Given the description of an element on the screen output the (x, y) to click on. 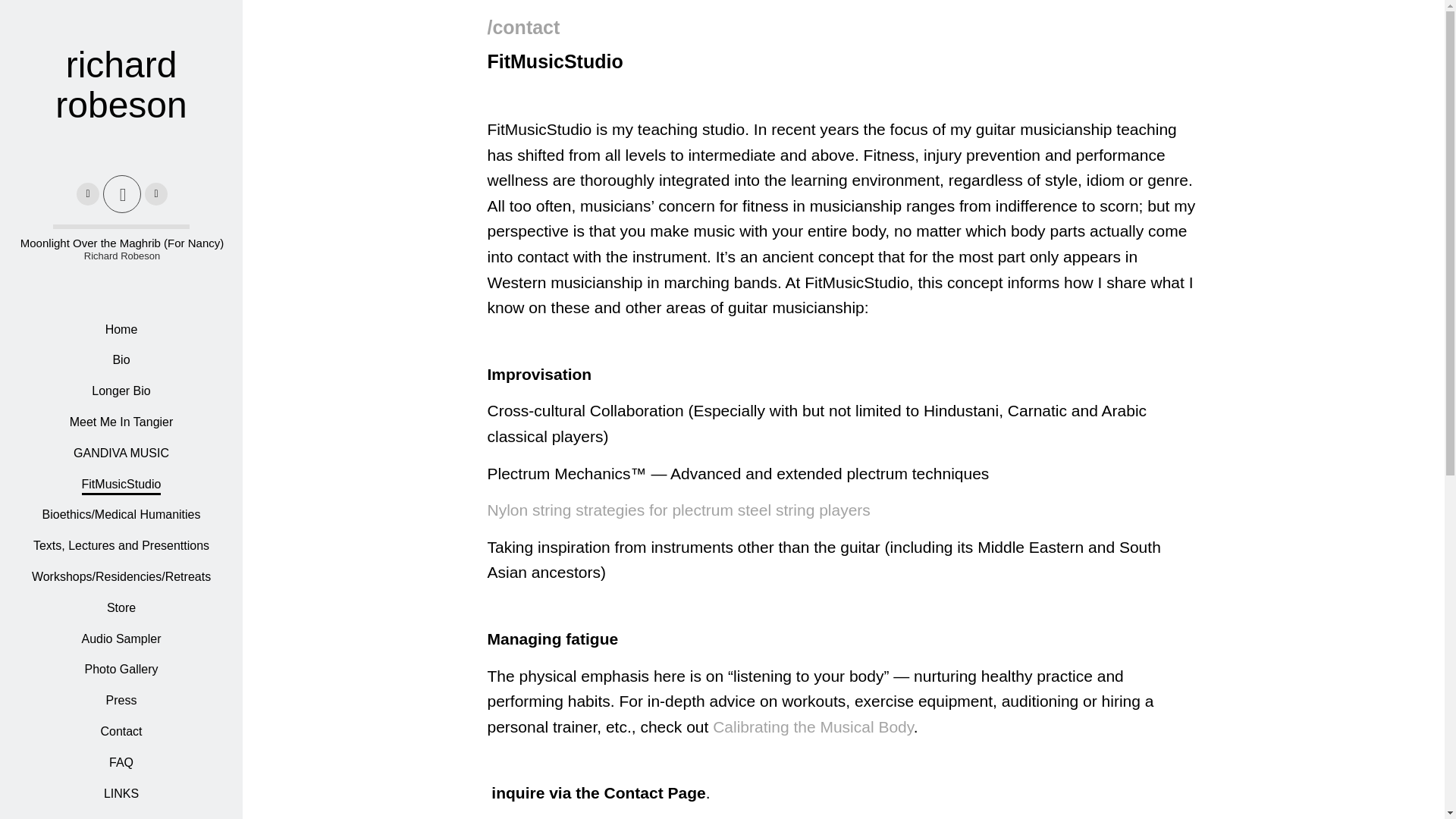
richard robeson (120, 110)
